Given the description of an element on the screen output the (x, y) to click on. 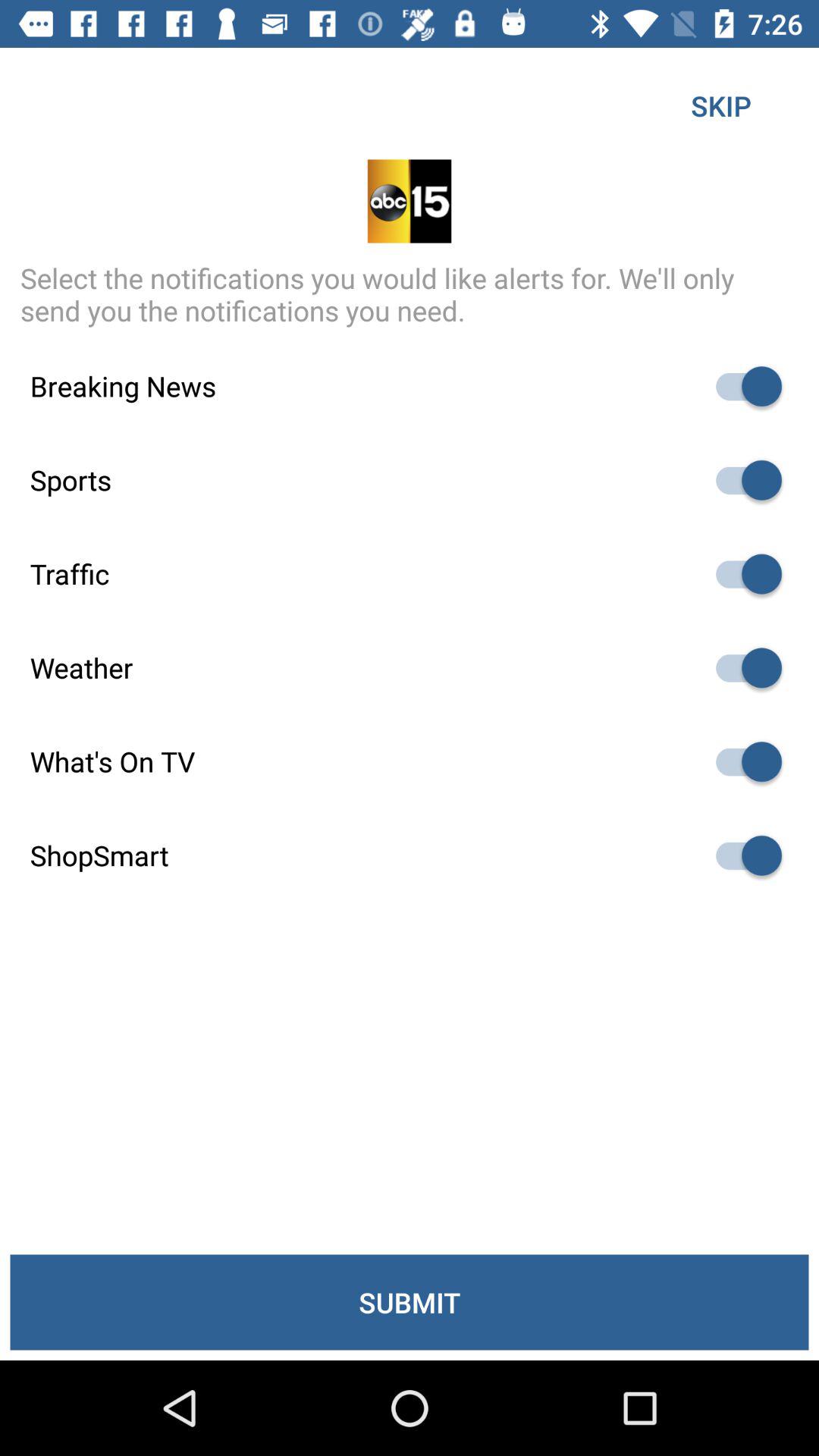
shop smart selecting box (741, 855)
